Given the description of an element on the screen output the (x, y) to click on. 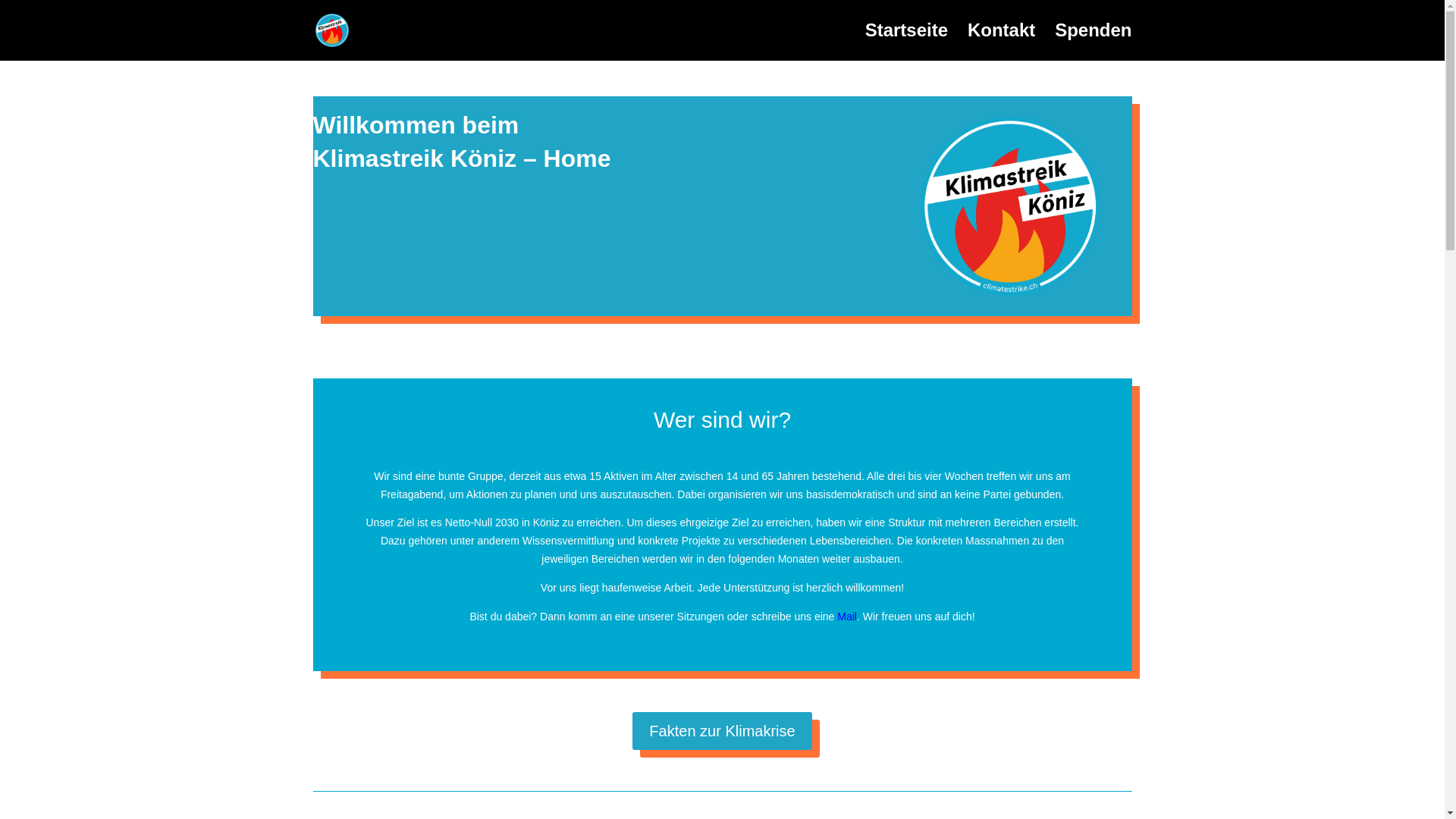
Kontakt Element type: text (1001, 42)
Fakten zur Klimakrise Element type: text (721, 730)
Startseite Element type: text (906, 42)
Spenden Element type: text (1092, 42)
Mail Element type: text (846, 616)
